Given the description of an element on the screen output the (x, y) to click on. 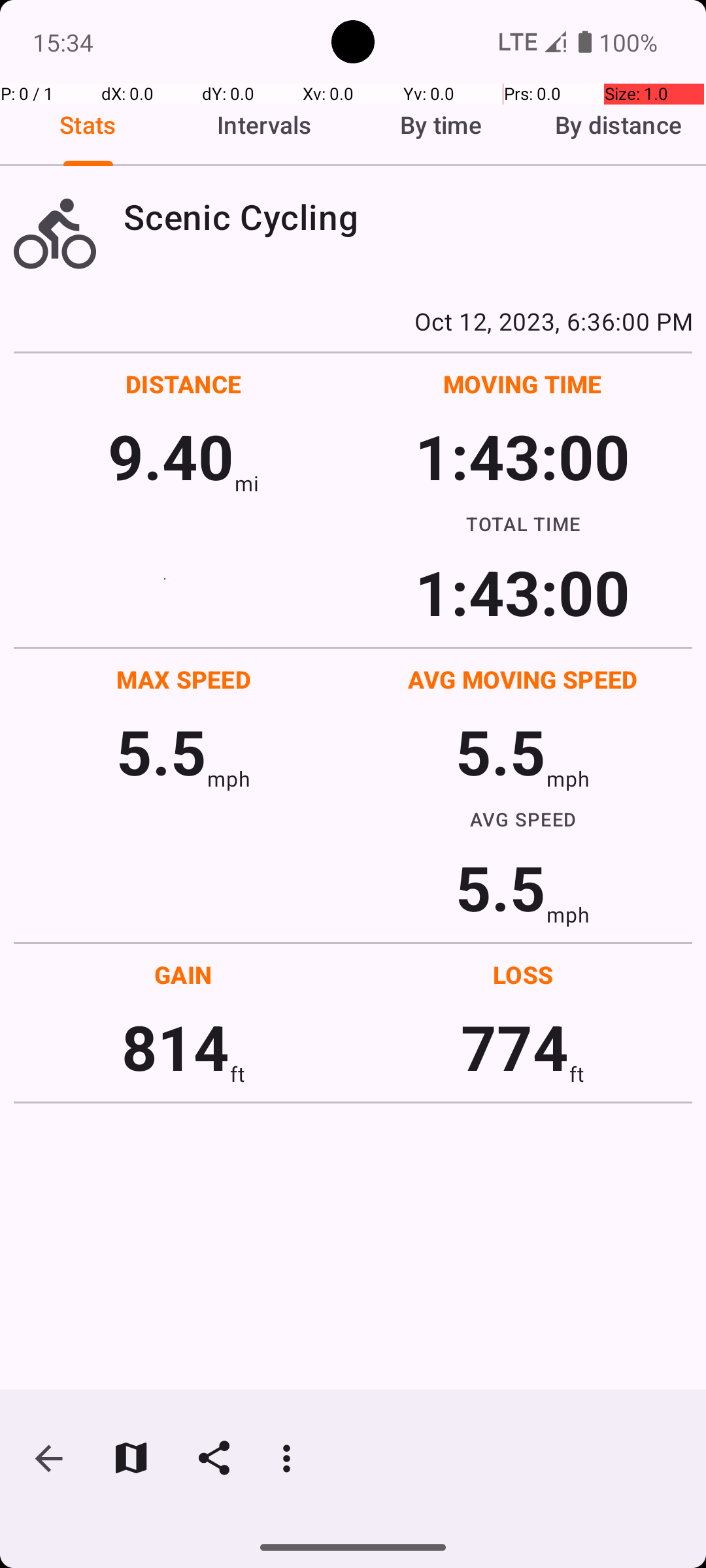
Oct 12, 2023, 6:36:00 PM Element type: android.widget.TextView (352, 320)
9.40 Element type: android.widget.TextView (170, 455)
1:43:00 Element type: android.widget.TextView (522, 455)
5.5 Element type: android.widget.TextView (161, 750)
814 Element type: android.widget.TextView (175, 1045)
774 Element type: android.widget.TextView (514, 1045)
